Given the description of an element on the screen output the (x, y) to click on. 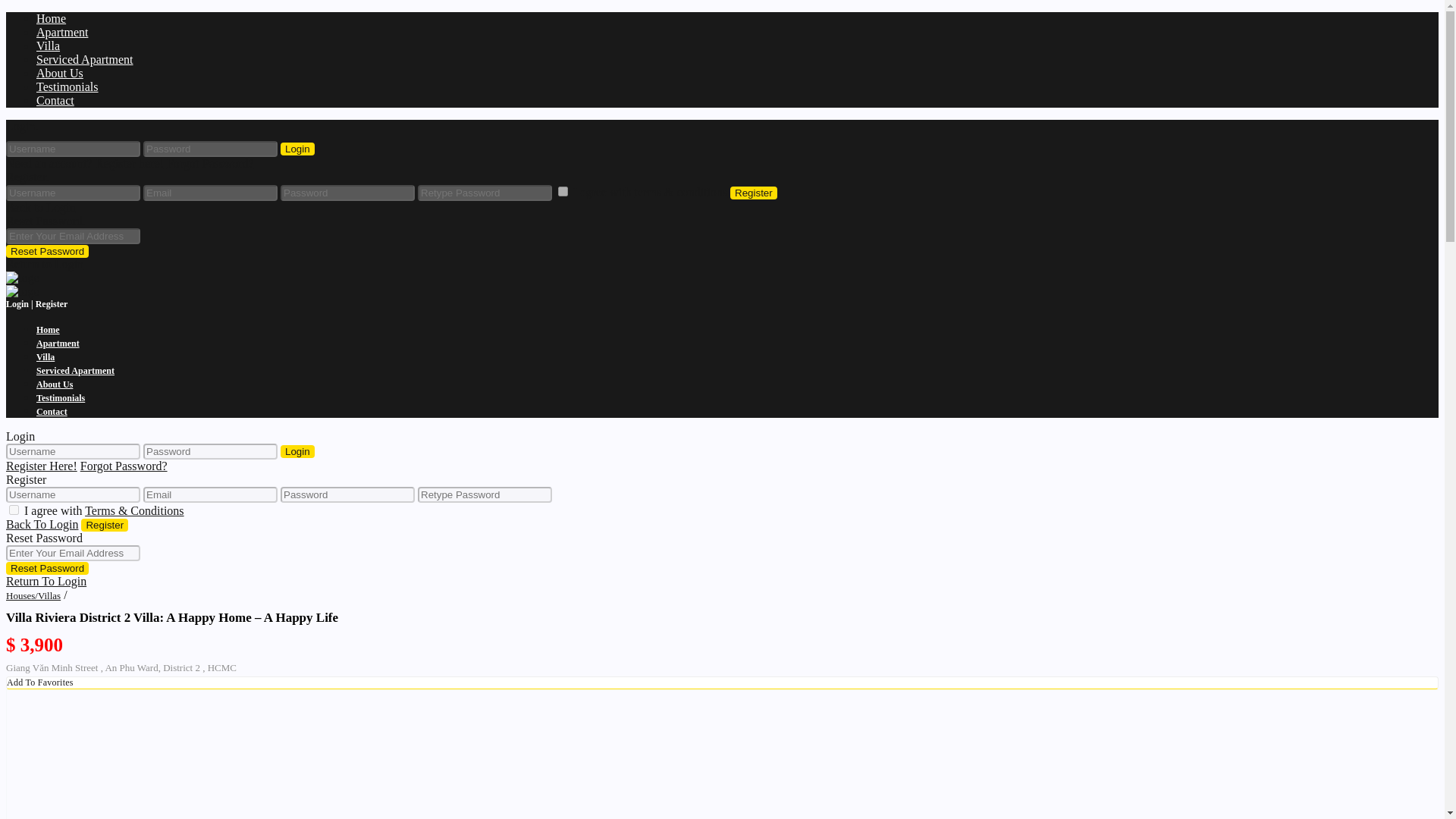
Reset Password (46, 250)
Return To Login (45, 581)
Reset Password (46, 567)
Testimonials (67, 86)
Discover a place you will love in HCMC (22, 278)
on (13, 510)
About Us (59, 72)
About Us (54, 384)
Register Here! (41, 465)
Contact (51, 411)
